Given the description of an element on the screen output the (x, y) to click on. 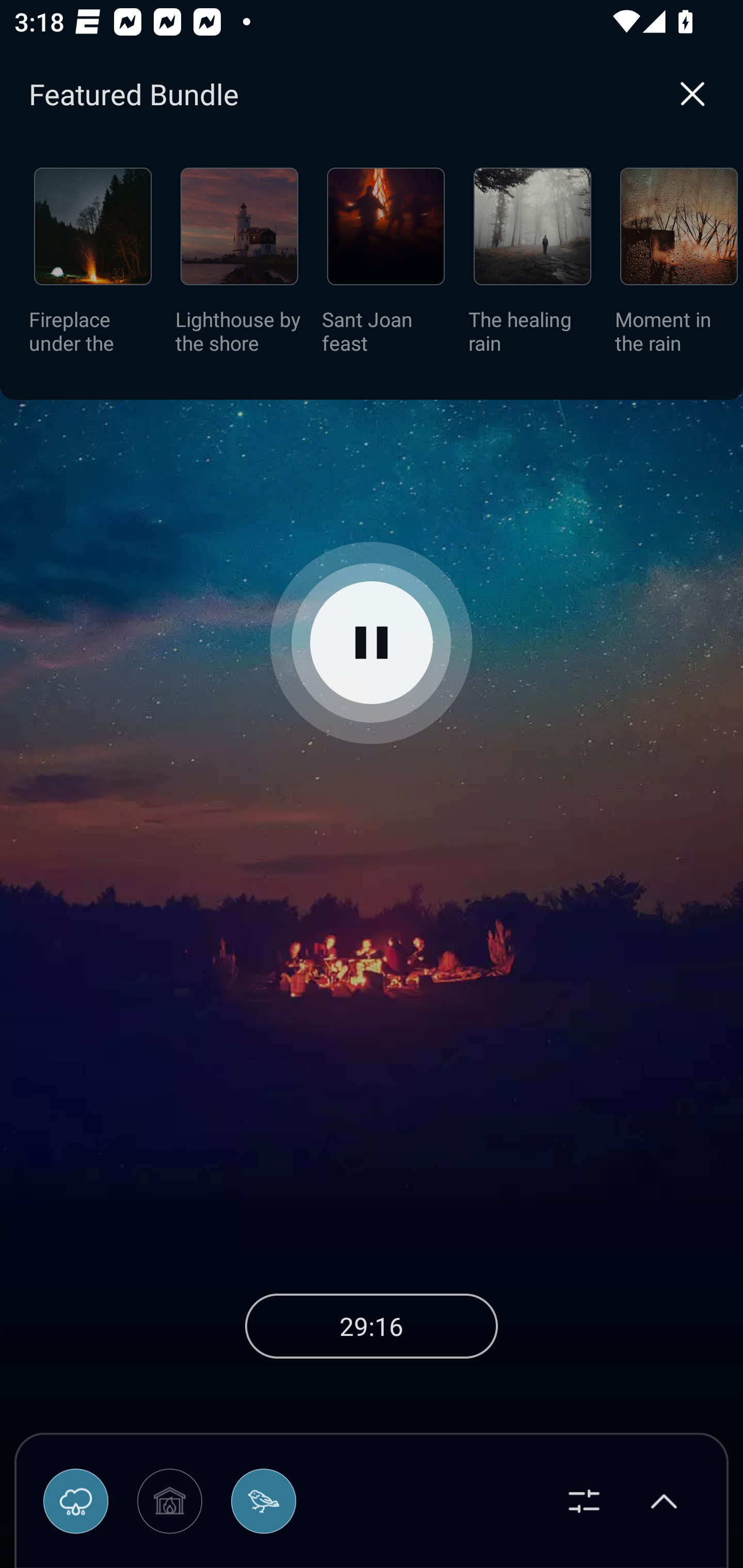
Fireplace under the milky way (92, 267)
Lighthouse by the shore (239, 267)
Sant Joan feast (385, 267)
The healing rain (532, 267)
Moment in the rain (679, 267)
29:16 (371, 1325)
